Given the description of an element on the screen output the (x, y) to click on. 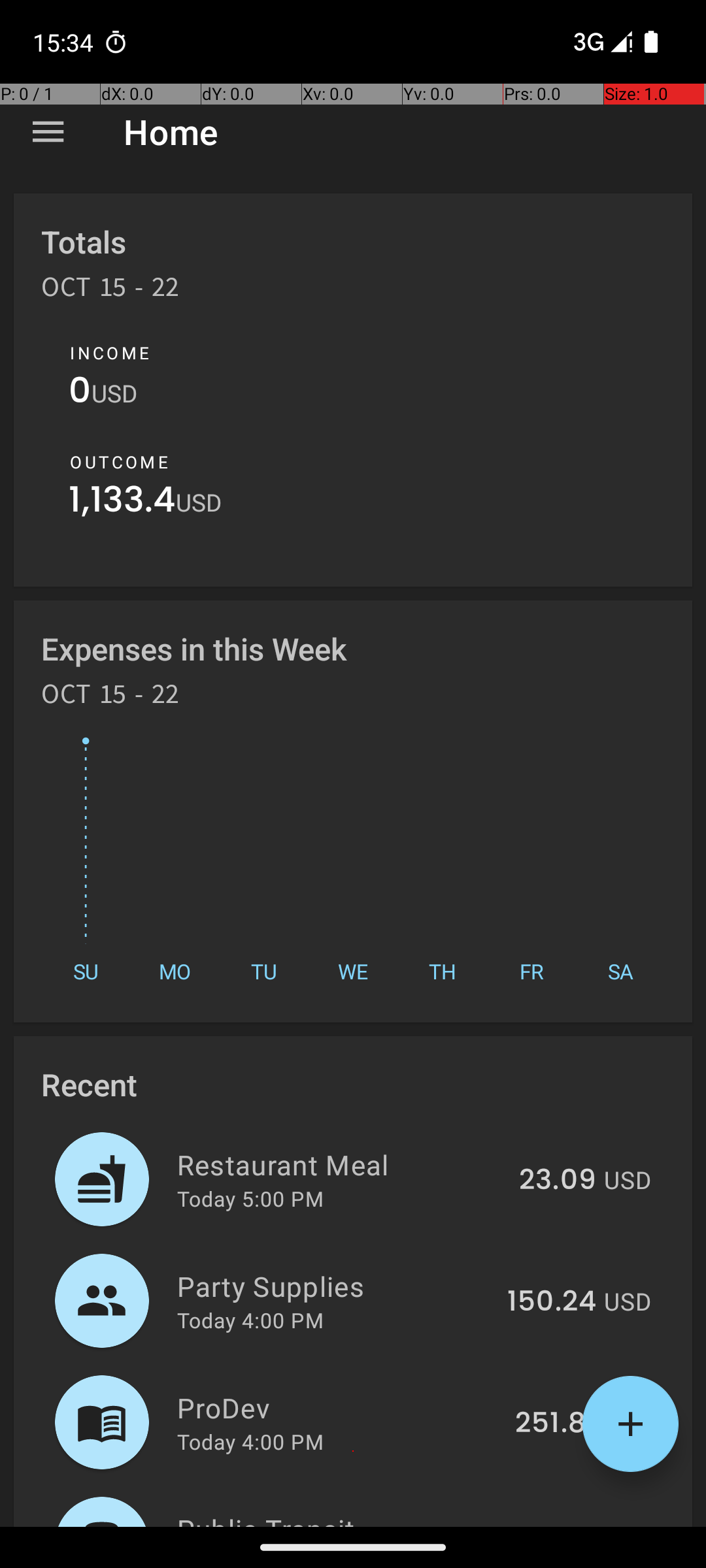
1,133.4 Element type: android.widget.TextView (121, 502)
Restaurant Meal Element type: android.widget.TextView (340, 1164)
23.09 Element type: android.widget.TextView (557, 1180)
150.24 Element type: android.widget.TextView (551, 1301)
ProDev Element type: android.widget.TextView (338, 1407)
251.81 Element type: android.widget.TextView (555, 1423)
Public Transit Element type: android.widget.TextView (349, 1518)
27.5 Element type: android.widget.TextView (566, 1524)
